Given the description of an element on the screen output the (x, y) to click on. 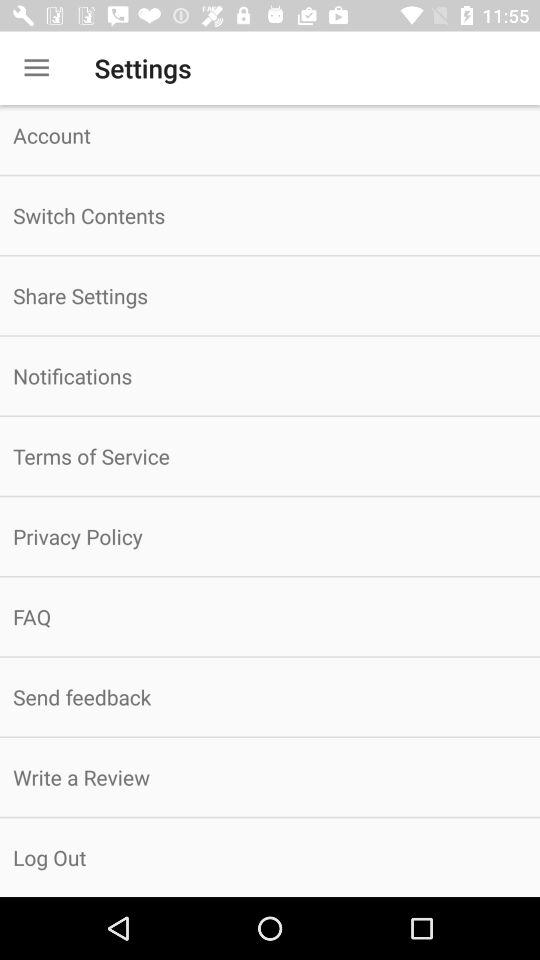
select icon above the privacy policy item (270, 455)
